Given the description of an element on the screen output the (x, y) to click on. 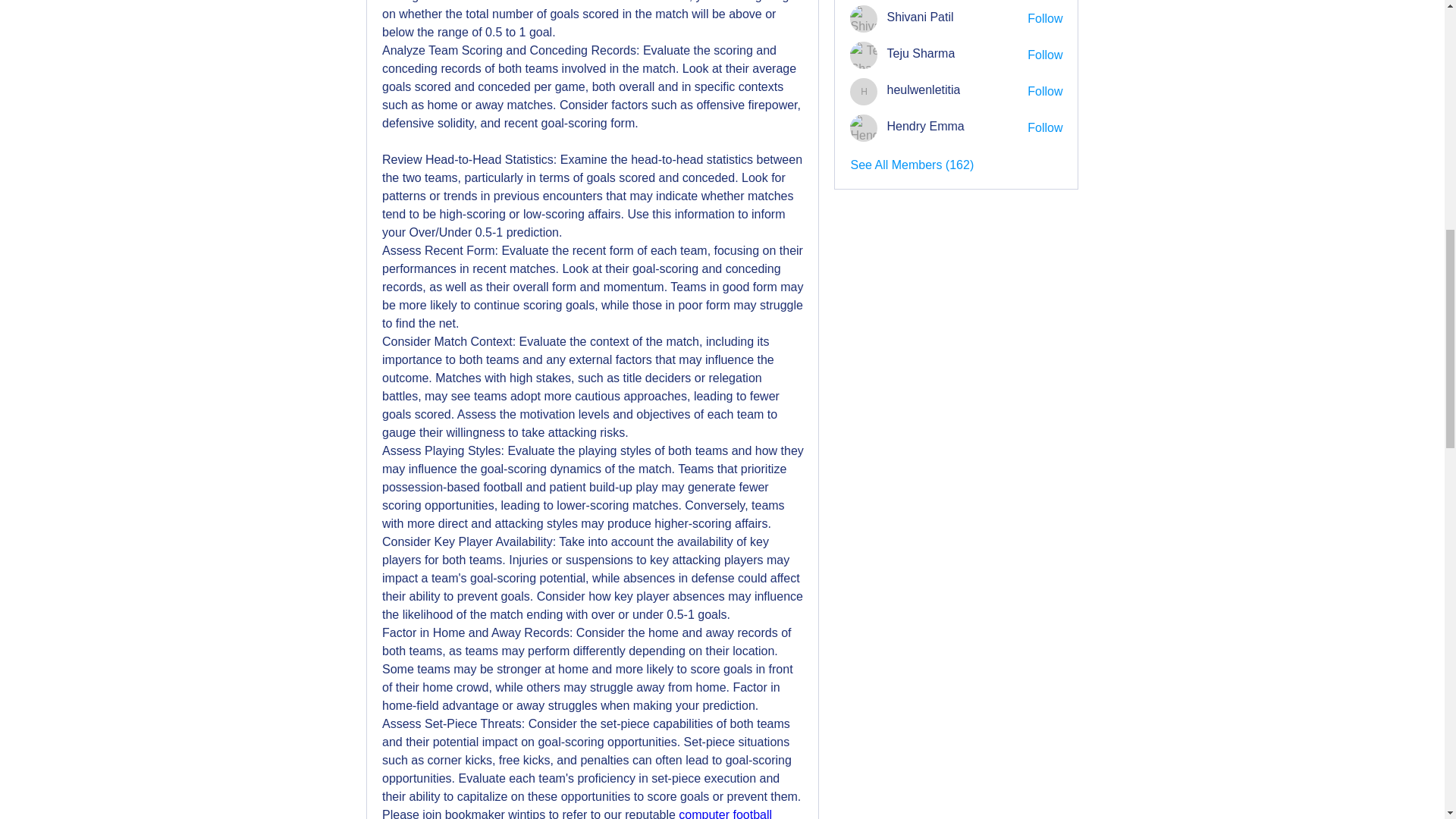
Hendry Emma (863, 127)
Teju Sharma (863, 54)
Shivani Patil (863, 18)
computer football prediction (578, 813)
heulwenletitia (863, 91)
